Given the description of an element on the screen output the (x, y) to click on. 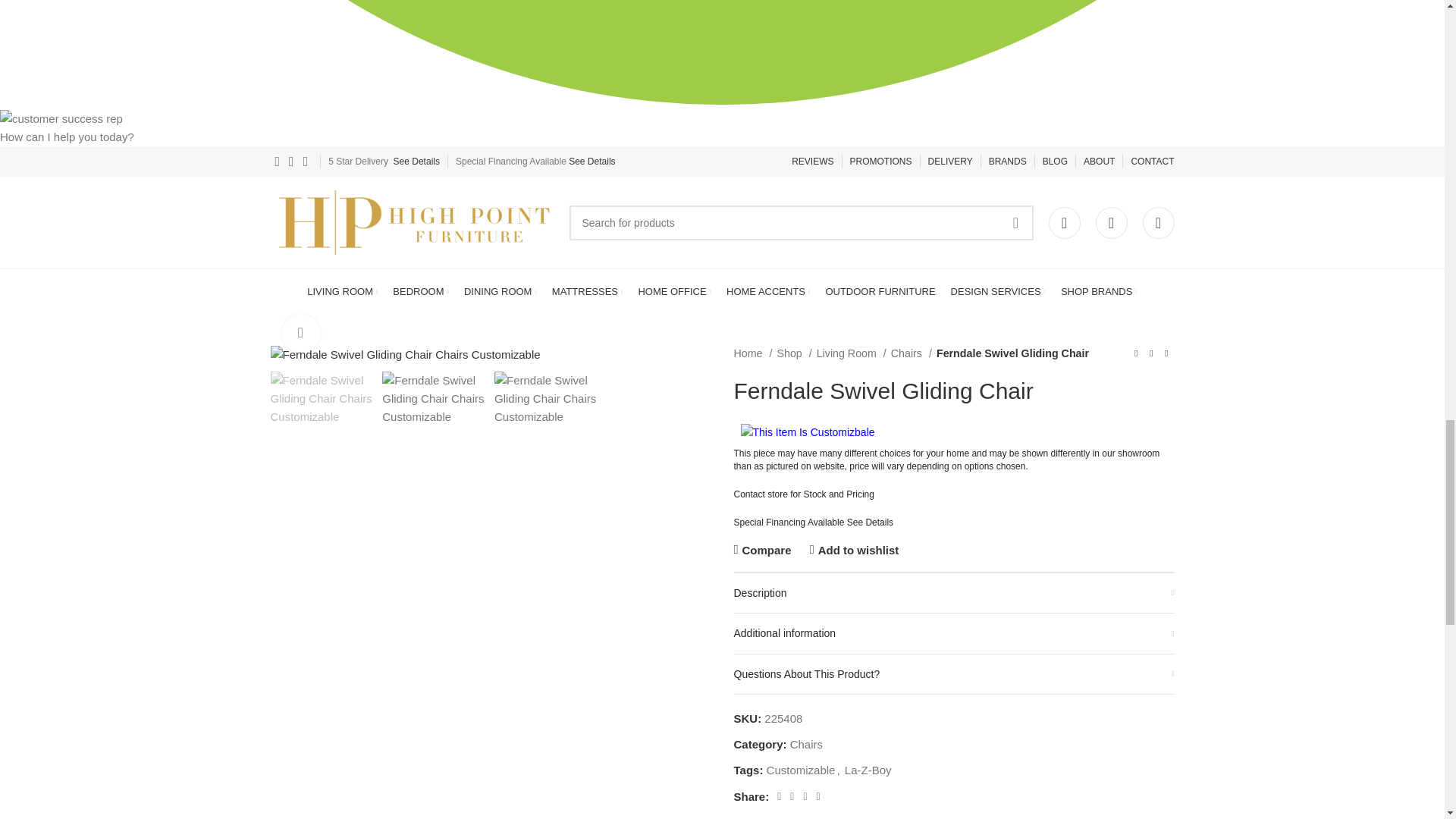
PROMOTIONS (881, 161)
Log in (954, 468)
My Wishlist (1110, 223)
LIVING ROOM (342, 291)
REVIEWS (812, 161)
My account (1064, 223)
DELIVERY (950, 161)
Compare products (1157, 223)
ABOUT (1099, 161)
